Given the description of an element on the screen output the (x, y) to click on. 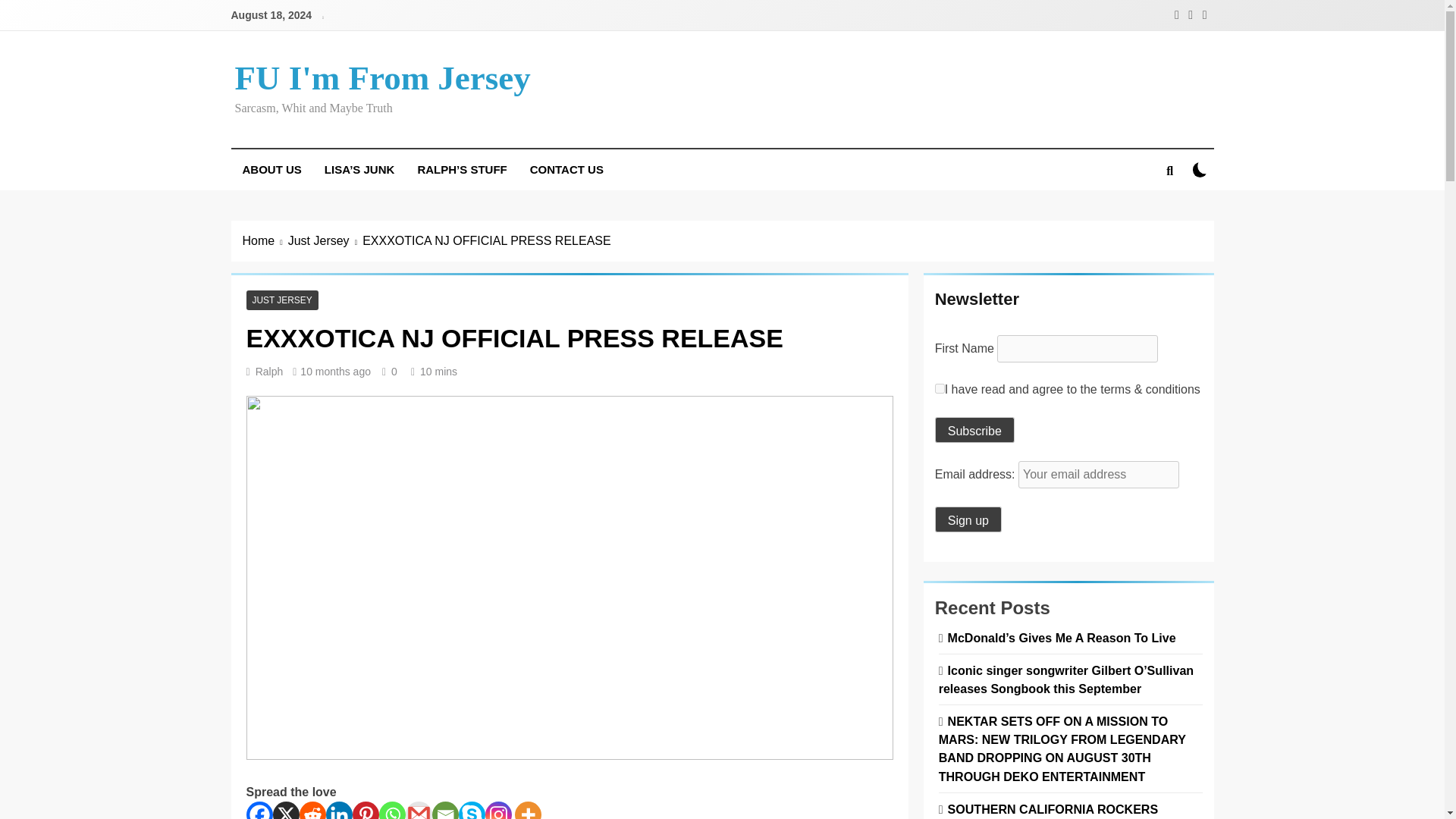
Sign up (967, 519)
Subscribe (974, 429)
FU I'M From Jersey (382, 77)
X (286, 810)
Pinterest (365, 810)
CONTACT US (566, 169)
1 (939, 388)
on (1199, 169)
ABOUT US (271, 169)
10 months ago (335, 371)
